Given the description of an element on the screen output the (x, y) to click on. 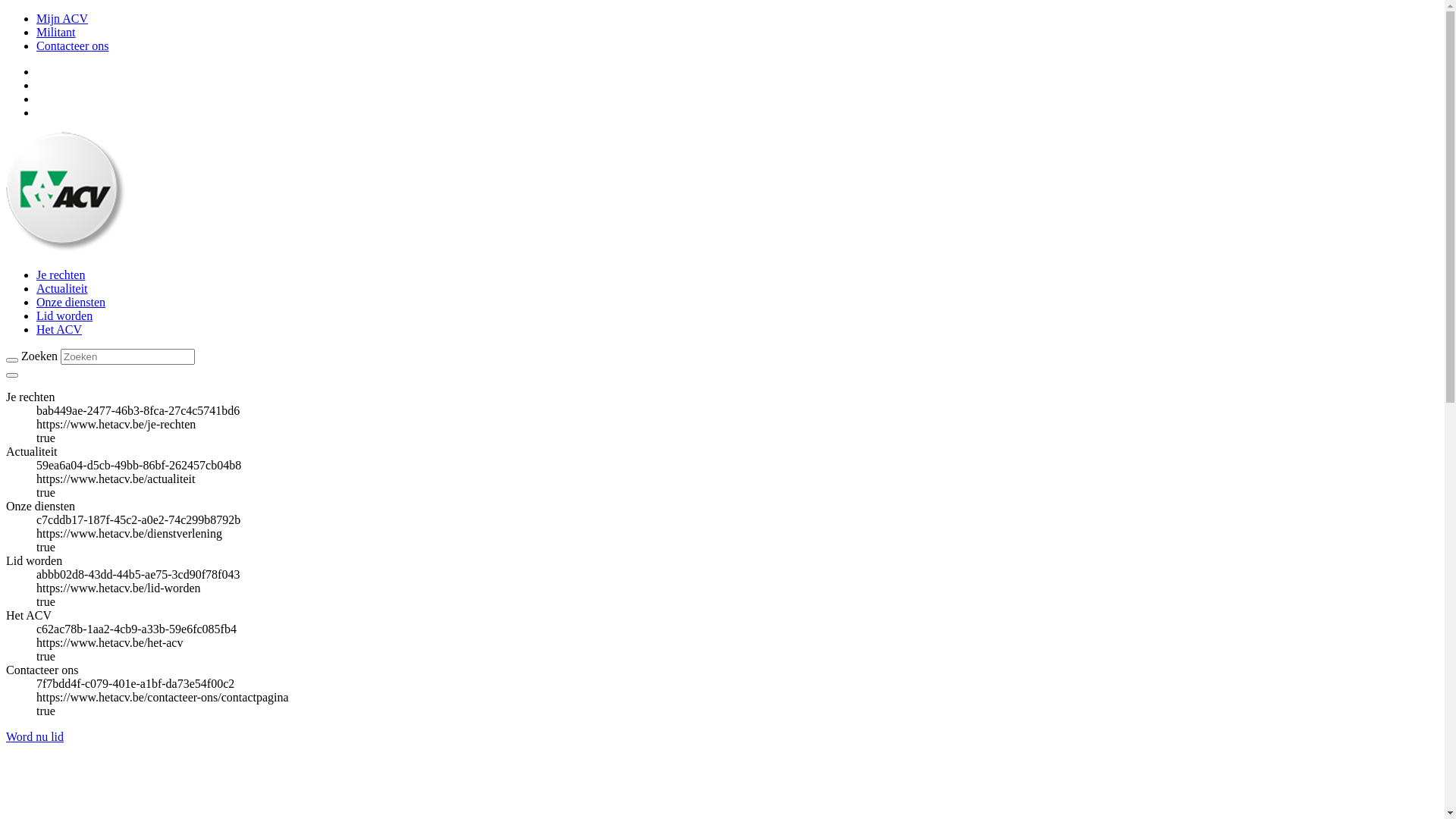
Je rechten Element type: text (60, 274)
Word nu lid Element type: text (34, 736)
Mijn ACV Element type: text (61, 18)
Onze diensten Element type: text (70, 301)
Contacteer ons Element type: text (72, 45)
Actualiteit Element type: text (61, 288)
Lid worden Element type: text (64, 315)
ACV-RGB-165px-tcm183-358090 Element type: hover (66, 192)
Het ACV Element type: text (58, 329)
Militant Element type: text (55, 31)
